Given the description of an element on the screen output the (x, y) to click on. 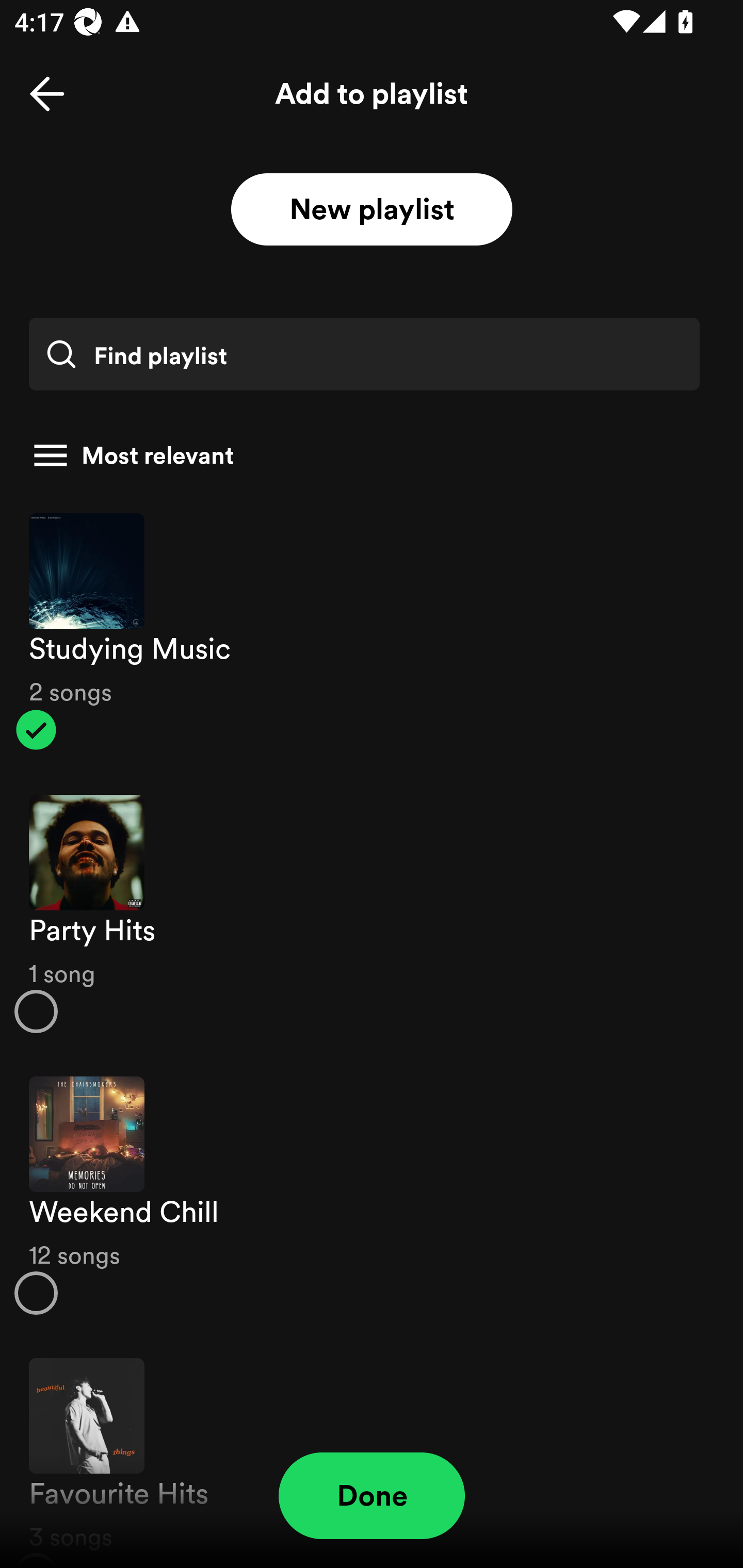
Back (46, 93)
New playlist (371, 210)
Find playlist (363, 354)
Most relevant (363, 455)
Studying Music 2 songs (371, 631)
Party Hits 1 song (371, 914)
Weekend Chill 12 songs (371, 1195)
Favourite Hits 3 songs (371, 1451)
Done (371, 1495)
